Given the description of an element on the screen output the (x, y) to click on. 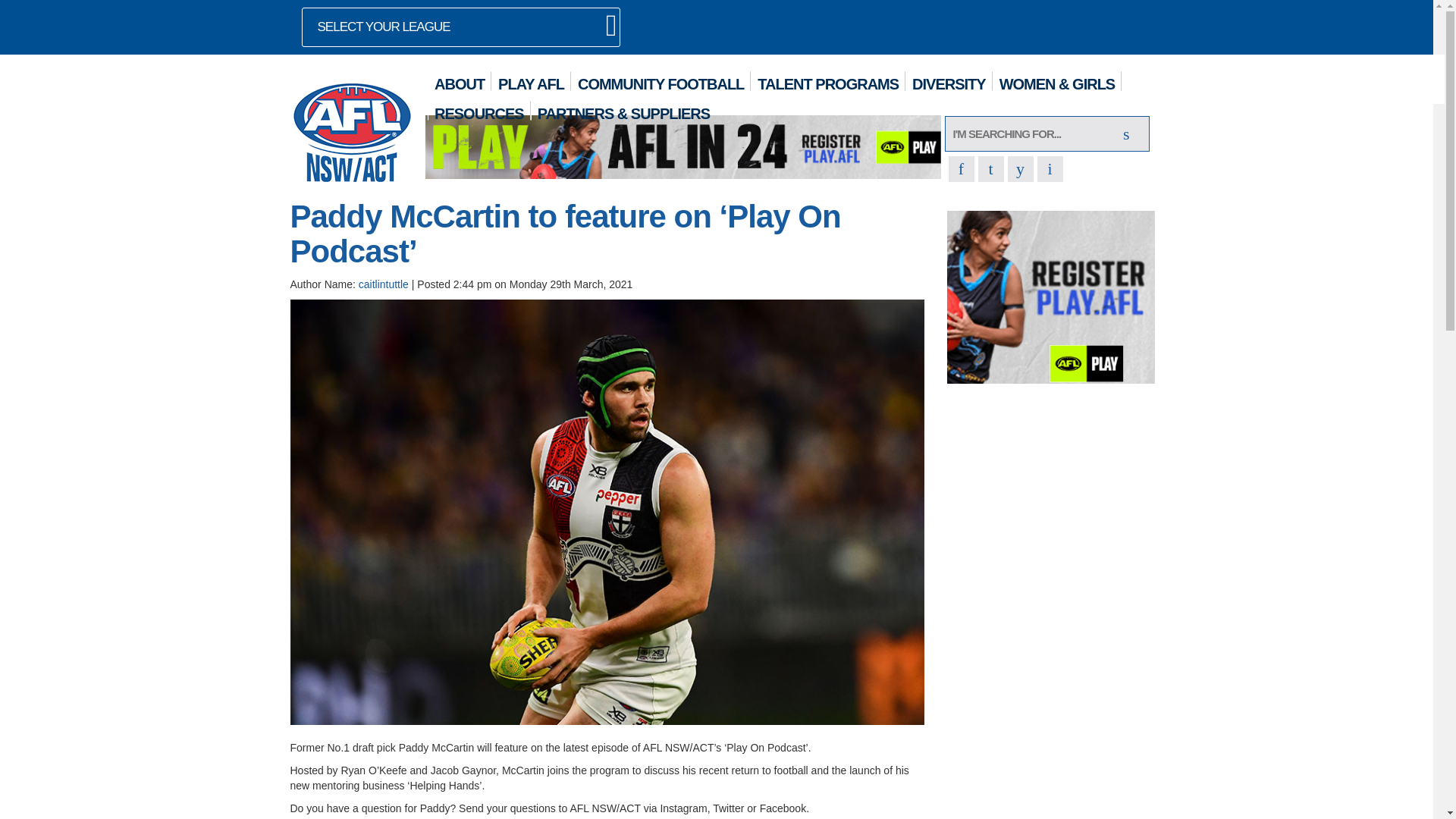
ABOUT (458, 80)
Play AFL (1050, 296)
PLAY AFL (530, 80)
COMMUNITY FOOTBALL (661, 80)
